Given the description of an element on the screen output the (x, y) to click on. 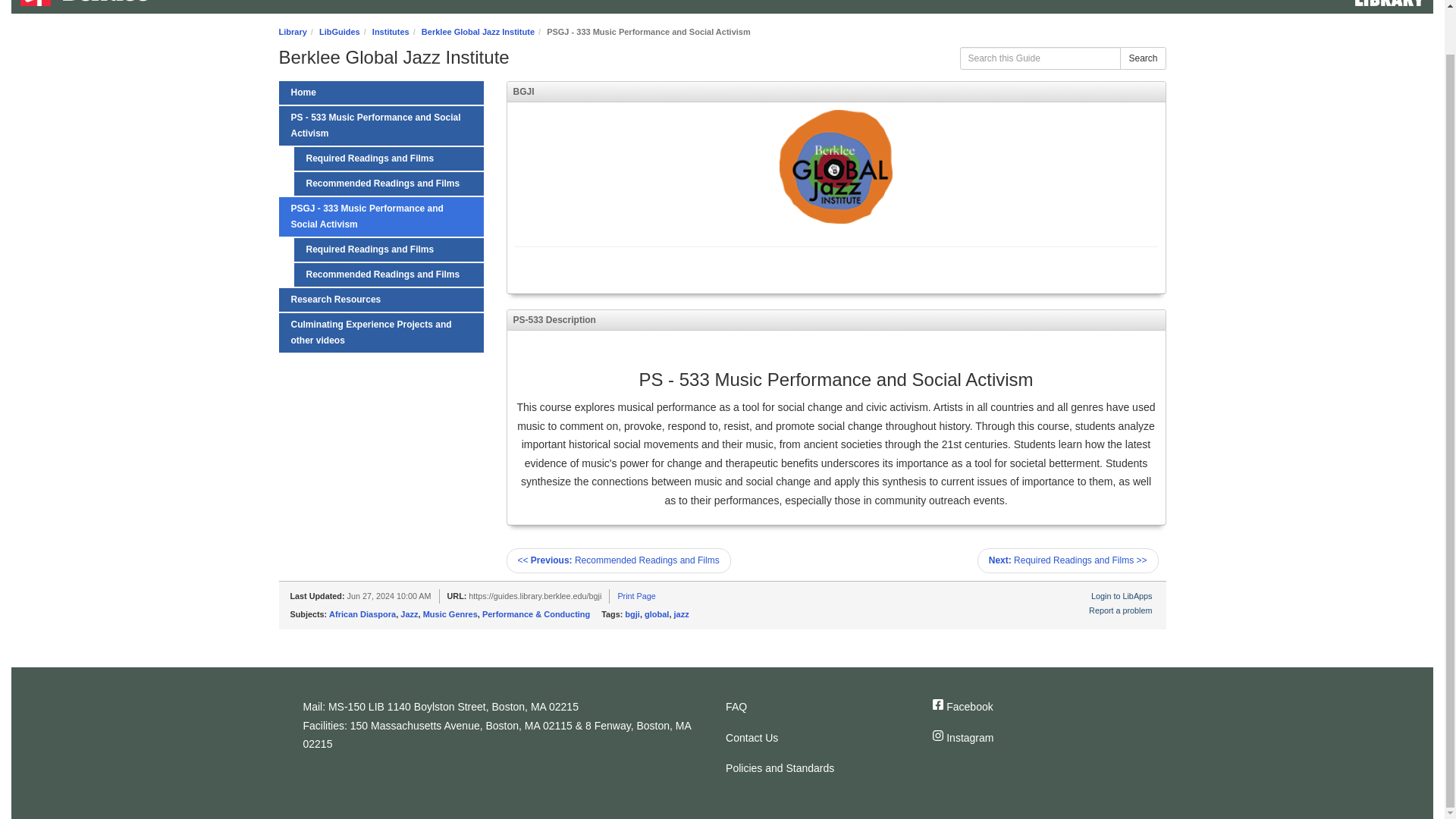
Institutes (390, 31)
LibGuides (338, 31)
Search (1142, 57)
Print Page (636, 595)
PSGJ - 333 Music Performance and Social Activism (381, 216)
bgji (632, 614)
African Diaspora (362, 614)
PS - 533 Music Performance and Social Activism (381, 125)
Home (84, 2)
Recommended Readings and Films (388, 274)
global (656, 614)
Required Readings and Films (388, 158)
jazz (681, 614)
Login to LibApps (1120, 595)
Library (293, 31)
